Given the description of an element on the screen output the (x, y) to click on. 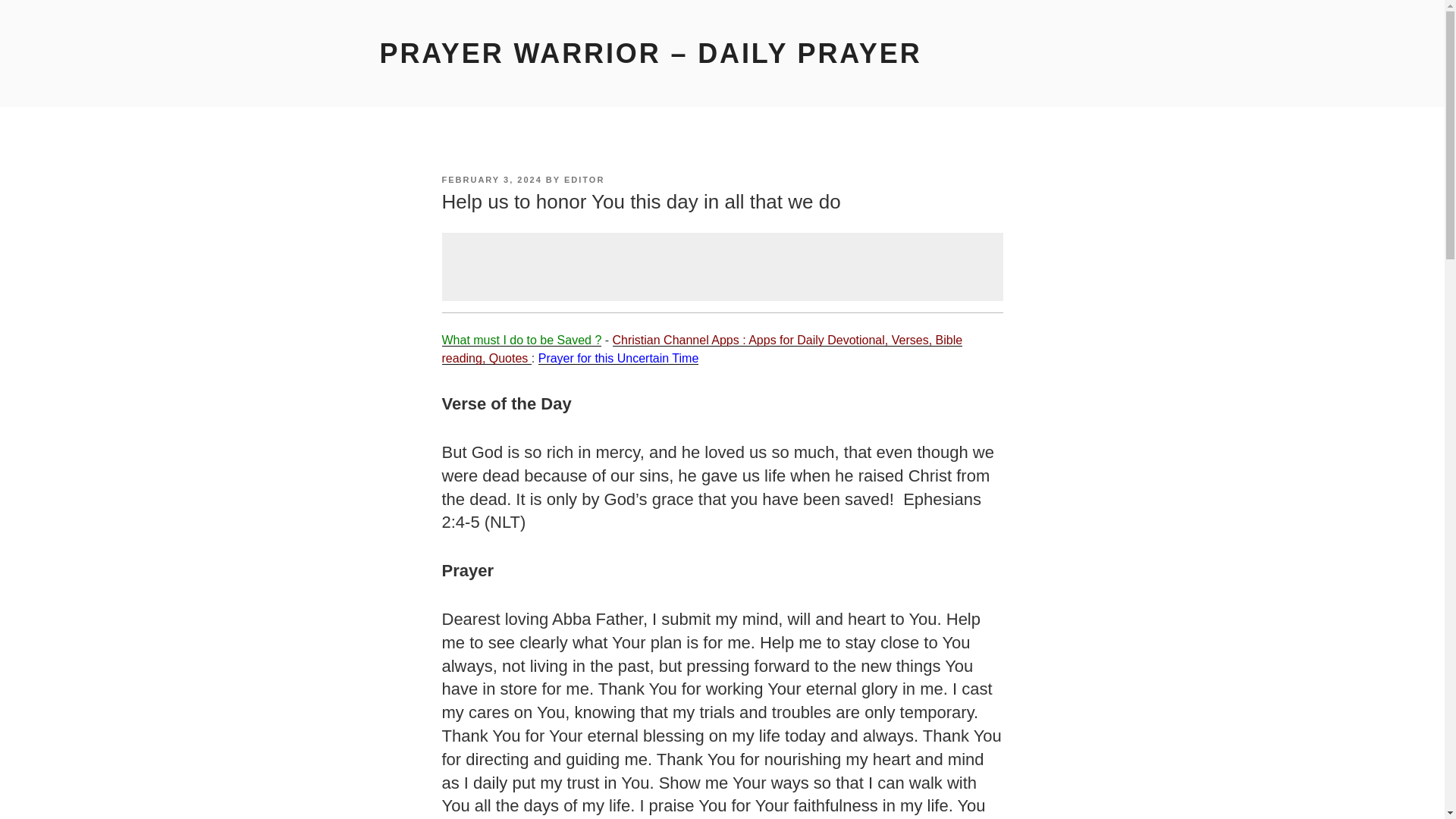
FEBRUARY 3, 2024 (491, 179)
EDITOR (584, 179)
What must I do to be Saved ? (521, 339)
Advertisement (722, 266)
Prayer for this Uncertain Time (618, 358)
